Given the description of an element on the screen output the (x, y) to click on. 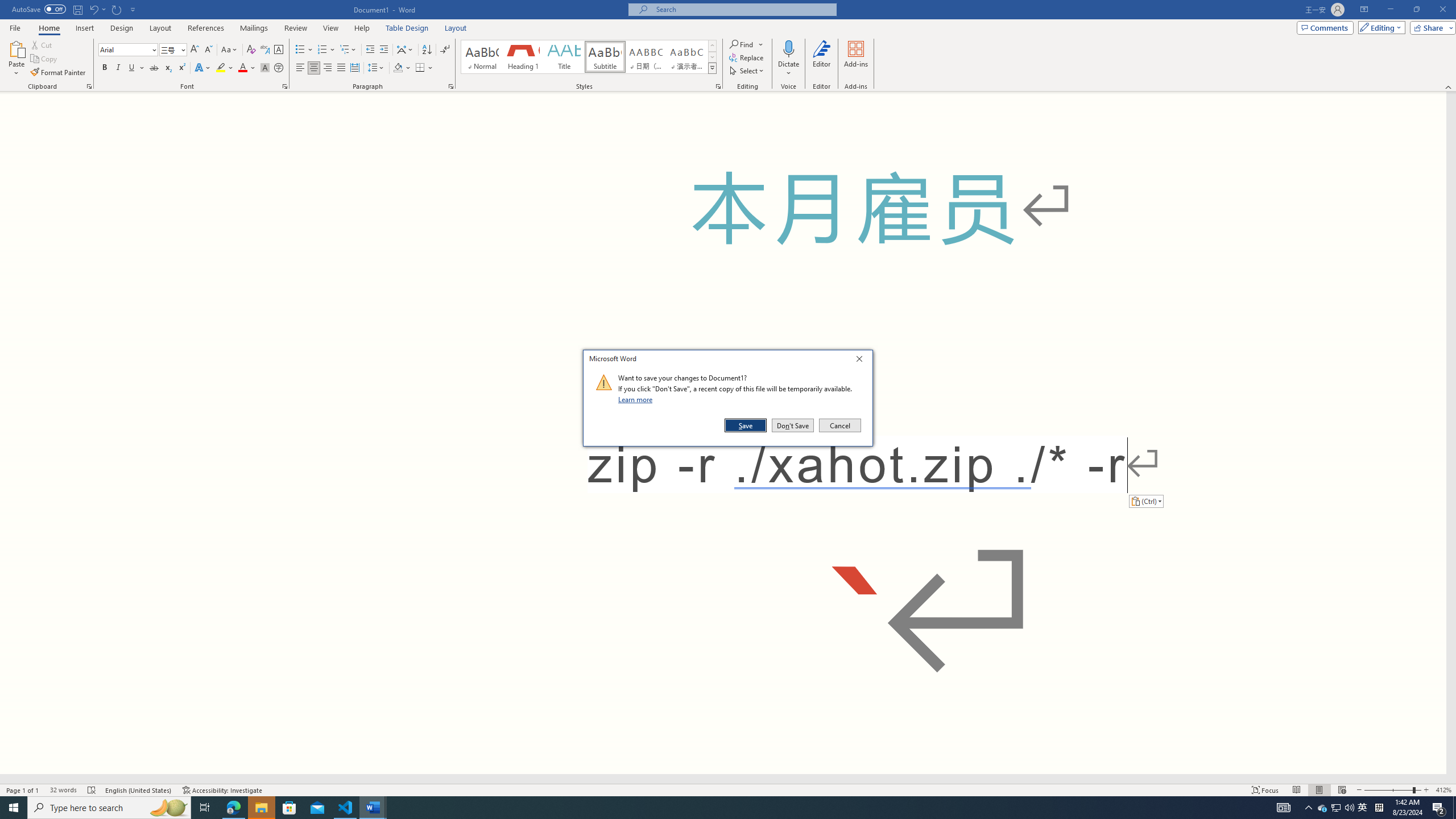
Align Left (300, 67)
Paste (16, 58)
Justify (340, 67)
Editing (1379, 27)
Tray Input Indicator - Chinese (Simplified, China) (1378, 807)
Bold (104, 67)
Increase Indent (383, 49)
AutomationID: 4105 (1283, 807)
Title (564, 56)
Microsoft Store (289, 807)
Numbering (322, 49)
Shrink Font (208, 49)
File Tab (15, 27)
Font (124, 49)
Home (48, 28)
